Given the description of an element on the screen output the (x, y) to click on. 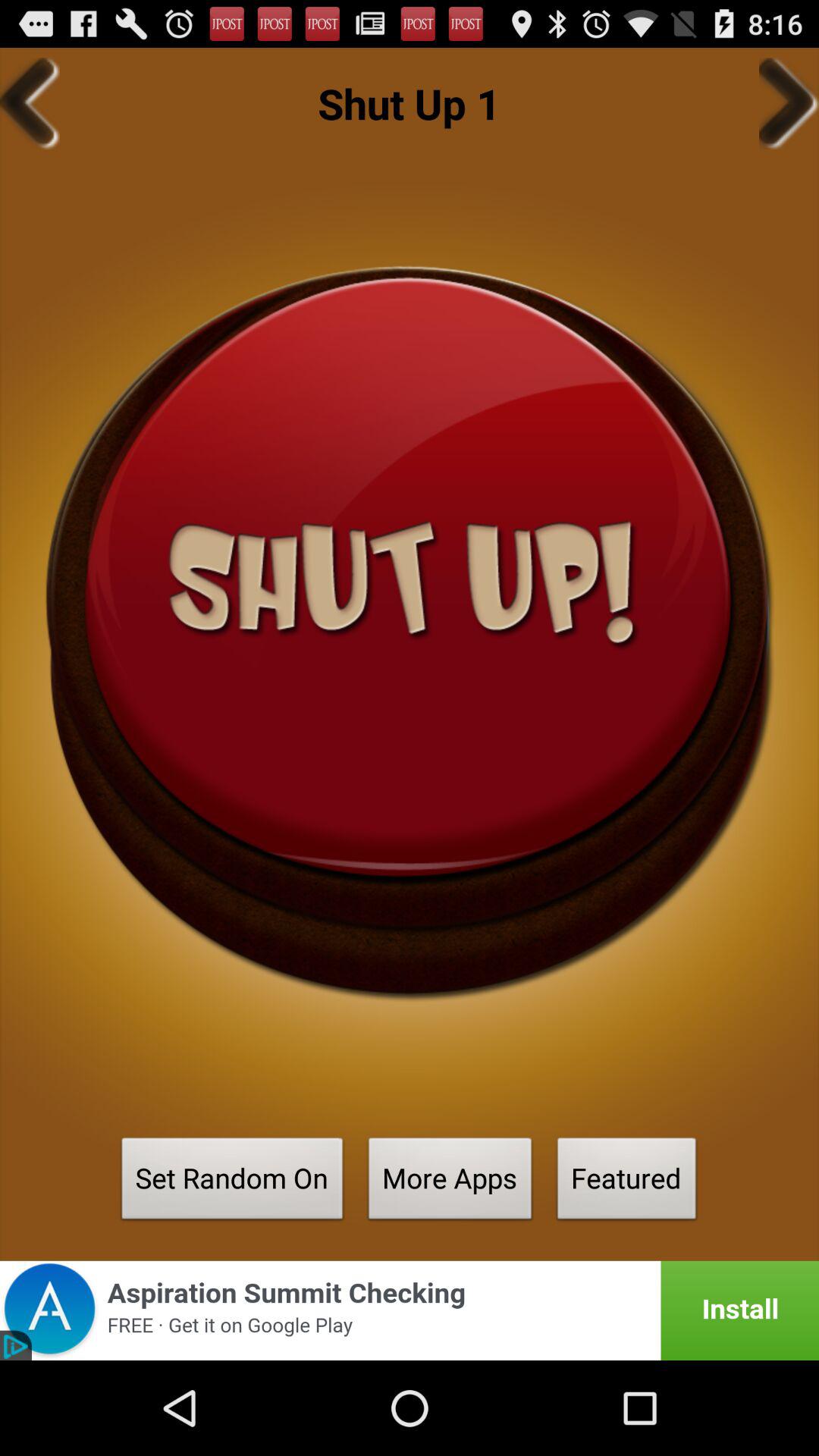
choose button to the right of set random on (450, 1182)
